Given the description of an element on the screen output the (x, y) to click on. 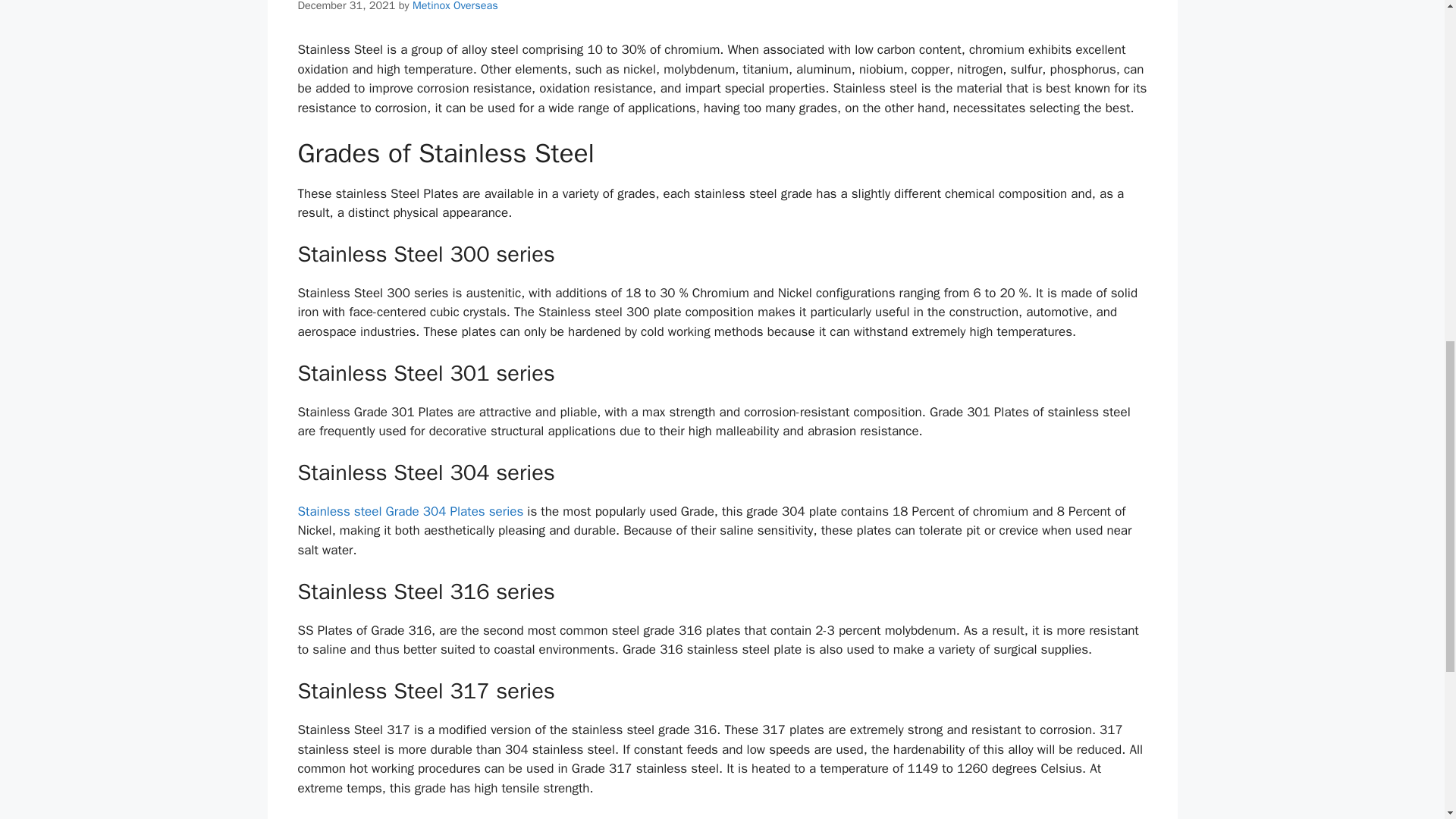
Metinox Overseas (454, 6)
Stainless steel Grade 304 Plates series (409, 511)
View all posts by Metinox Overseas (454, 6)
